Given the description of an element on the screen output the (x, y) to click on. 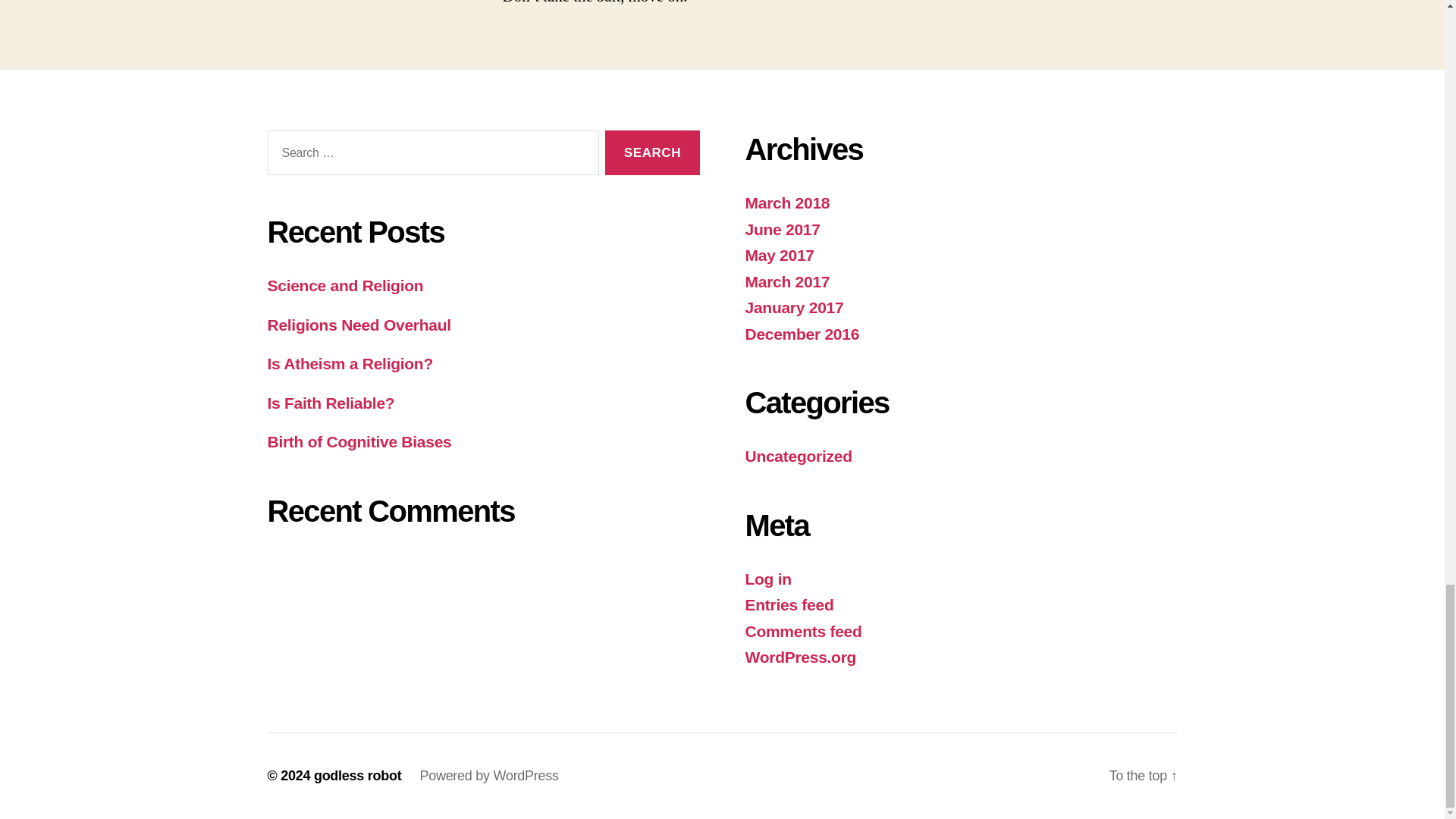
Birth of Cognitive Biases (358, 441)
WordPress.org (800, 656)
May 2017 (778, 254)
January 2017 (793, 307)
Uncategorized (797, 456)
godless robot (357, 775)
June 2017 (781, 229)
March 2018 (786, 202)
Entries feed (788, 604)
Science and Religion (344, 285)
March 2017 (786, 281)
Powered by WordPress (488, 775)
Search (651, 152)
Log in (767, 579)
December 2016 (801, 334)
